Given the description of an element on the screen output the (x, y) to click on. 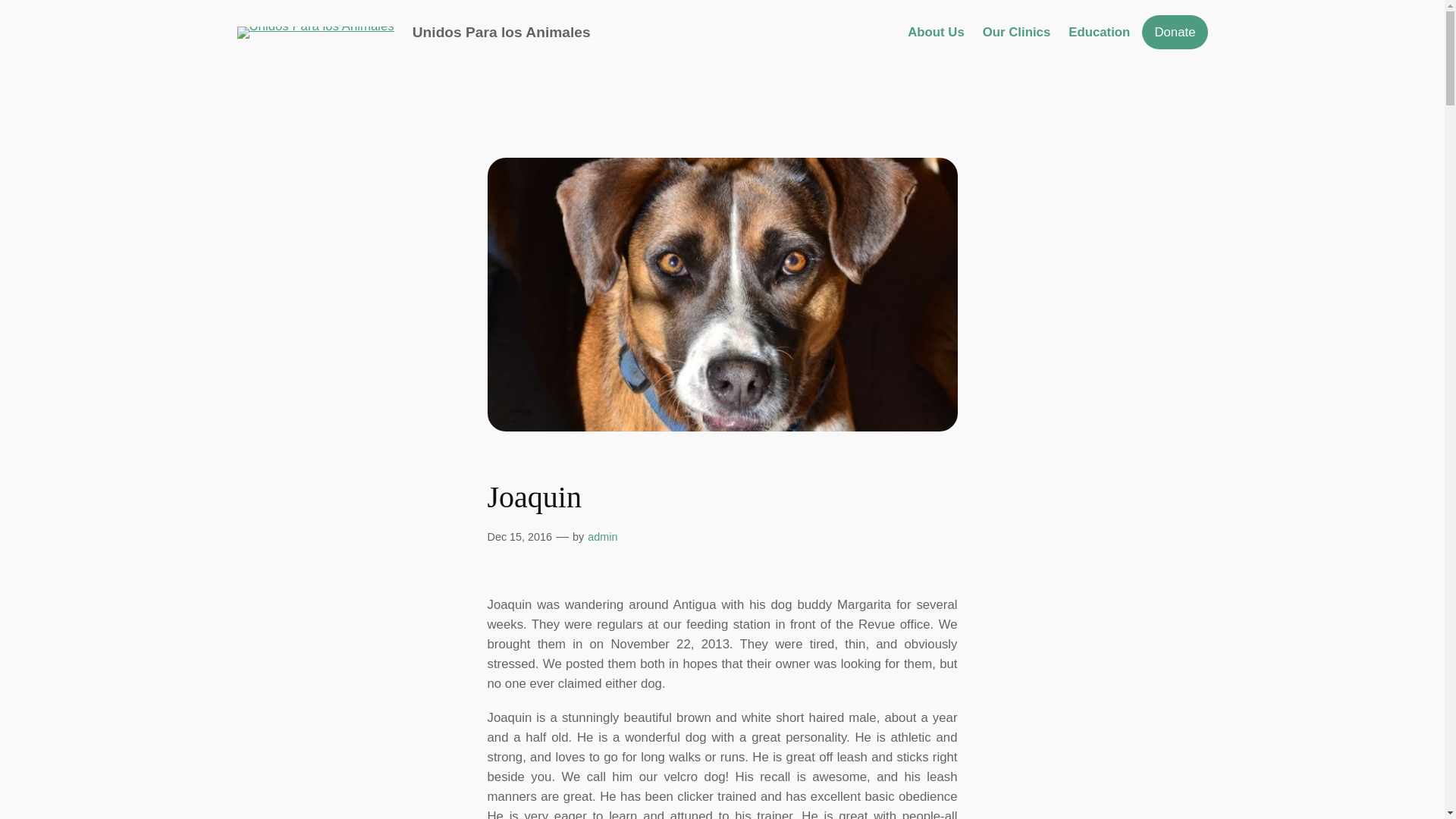
About Us (935, 32)
Unidos Para los Animales (501, 32)
admin (602, 536)
Dec 15, 2016 (518, 536)
Donate (1174, 32)
Our Clinics (1016, 32)
Education (1098, 32)
